Given the description of an element on the screen output the (x, y) to click on. 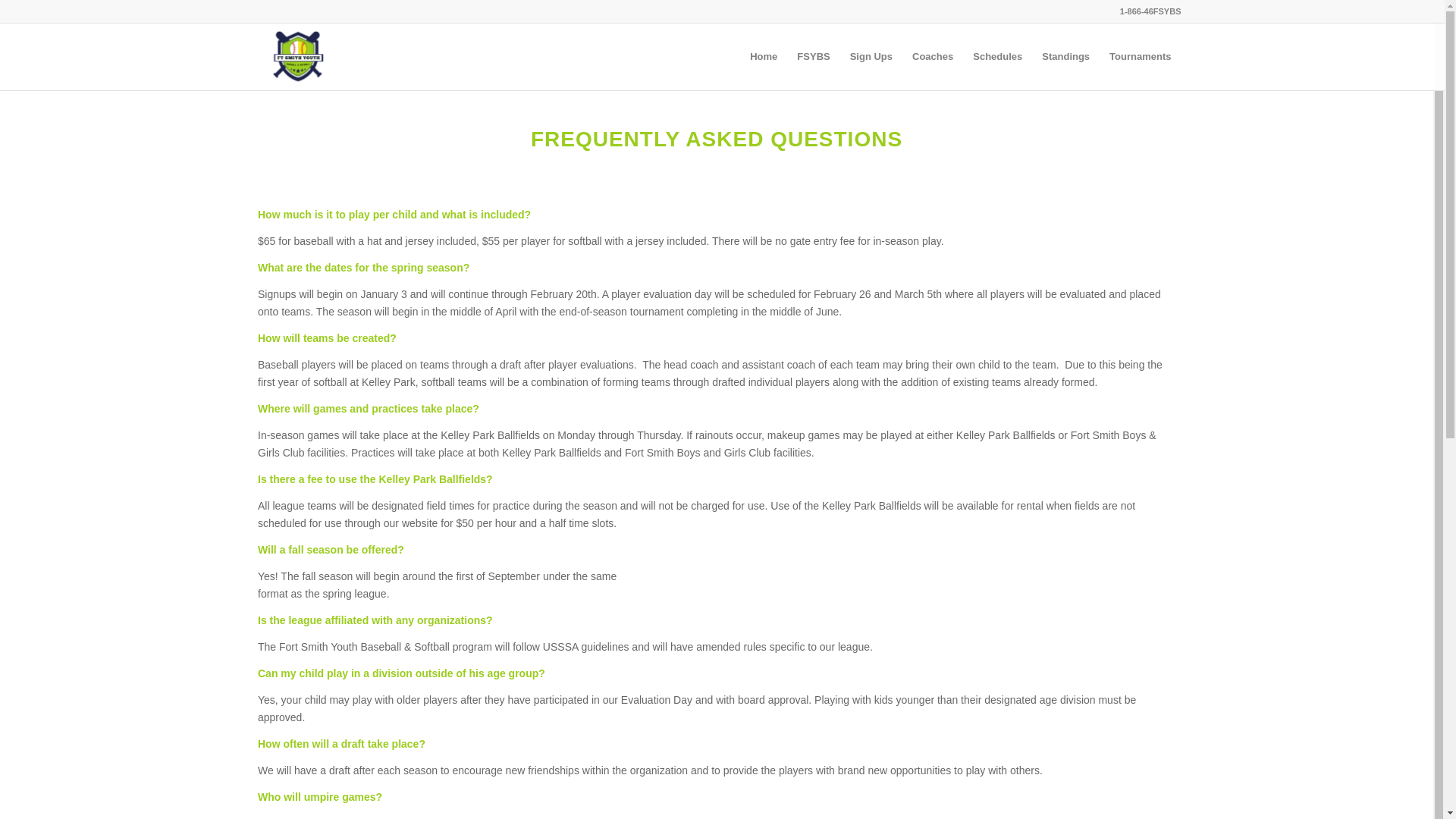
Standings (1065, 56)
Coaches (932, 56)
Schedules (997, 56)
Sign Ups (871, 56)
